Given the description of an element on the screen output the (x, y) to click on. 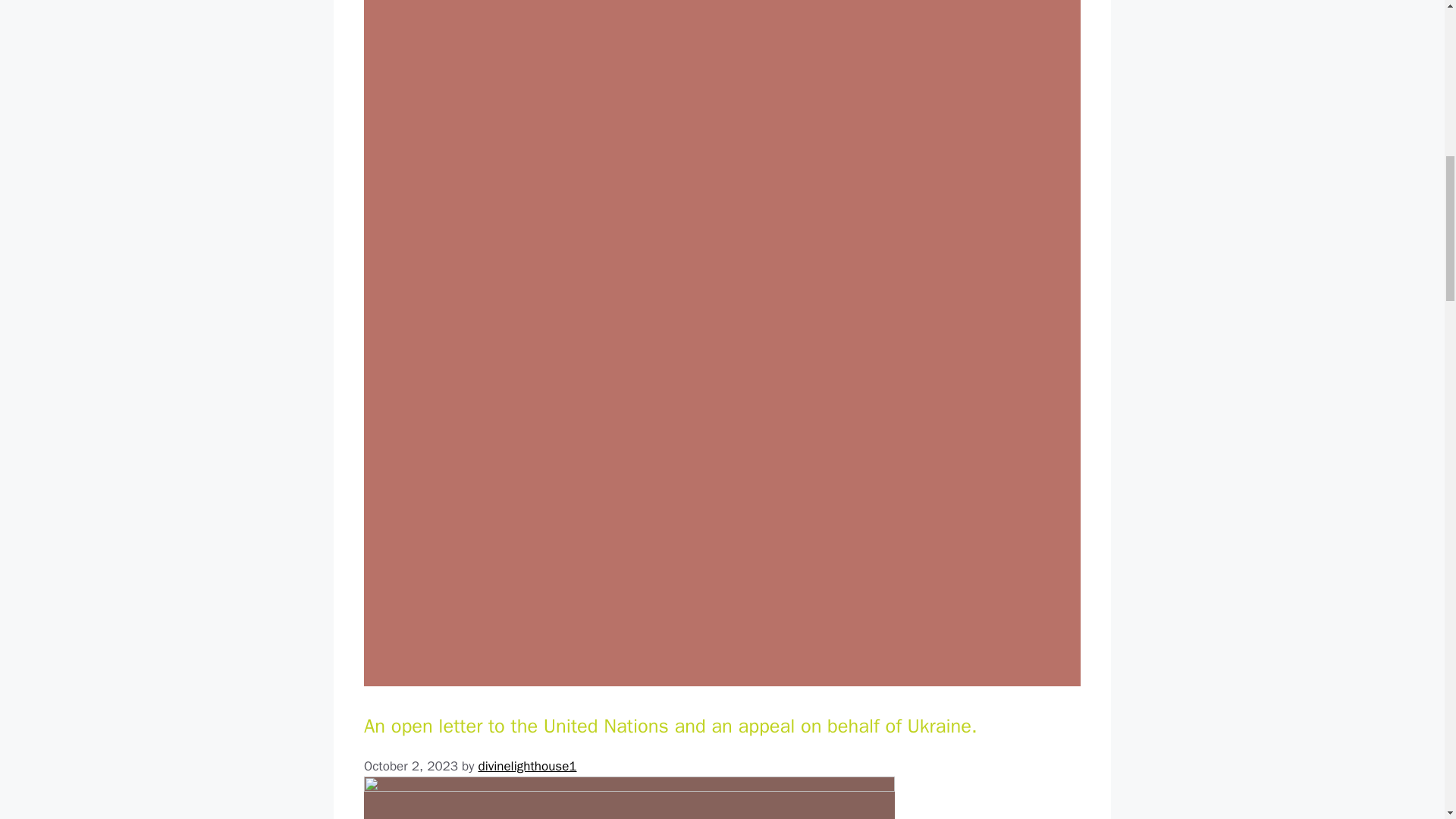
View all posts by divinelighthouse1 (526, 765)
divinelighthouse1 (526, 765)
Scroll back to top (1406, 720)
